Given the description of an element on the screen output the (x, y) to click on. 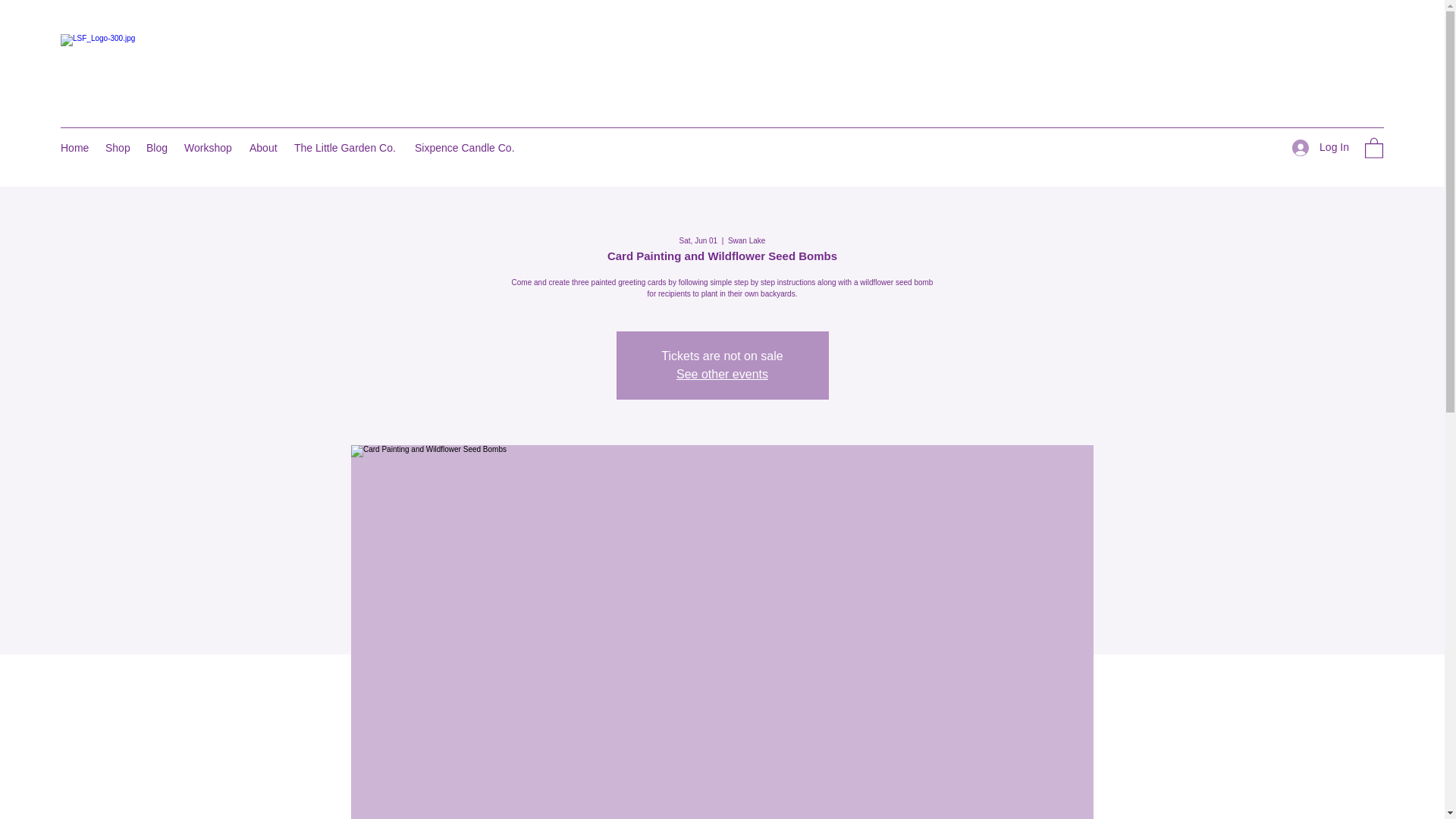
Workshop (208, 147)
See other events (722, 373)
Home (74, 147)
Blog (157, 147)
The Little Garden Co. (346, 147)
About (263, 147)
Shop (117, 147)
Sixpence Candle Co. (466, 147)
Log In (1320, 147)
